Given the description of an element on the screen output the (x, y) to click on. 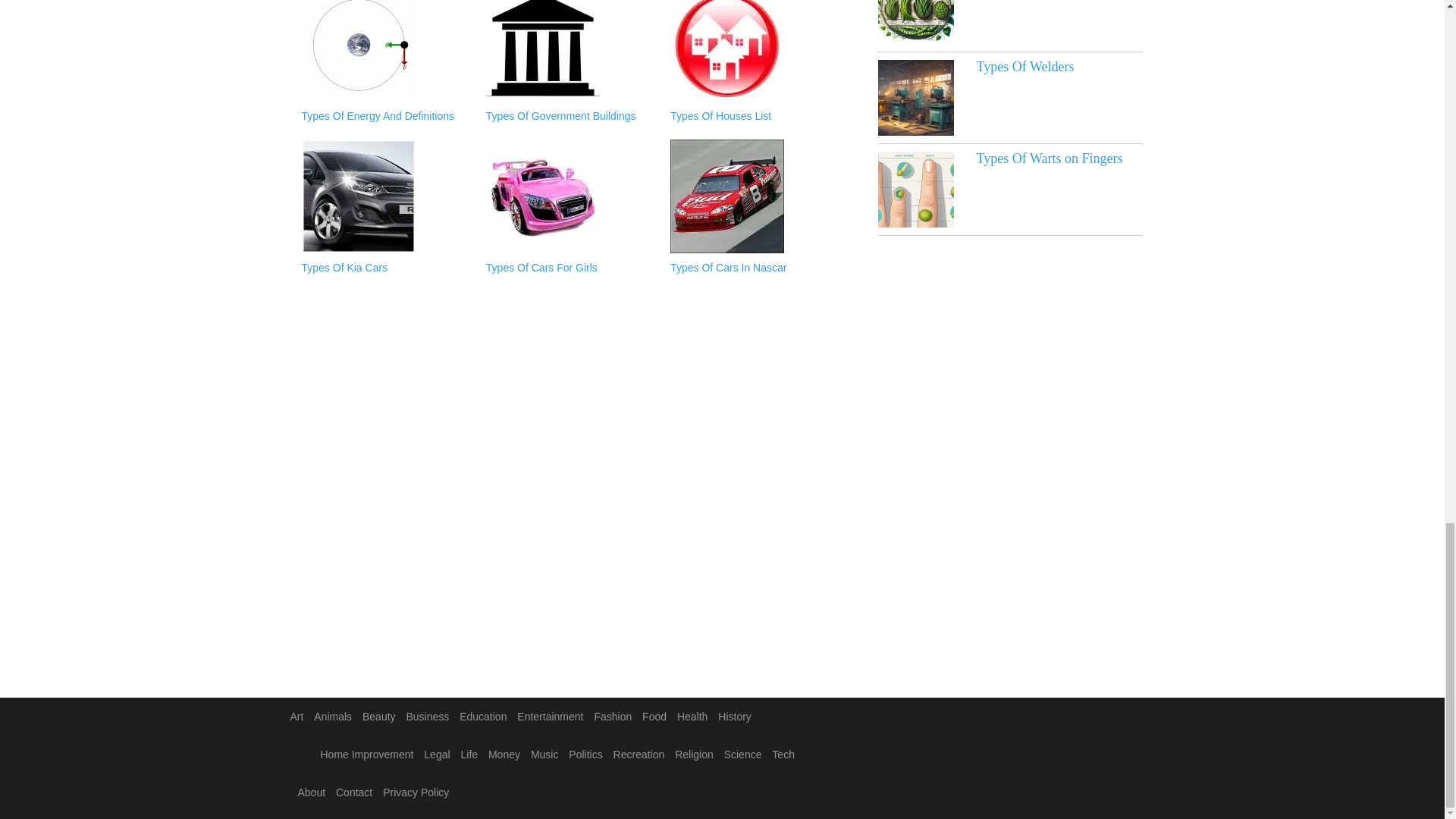
Types Of Cars In Nascar (754, 268)
Types Of Kia Cars (385, 268)
Types Of Government Buildings (570, 116)
Types Of Energy And Definitions (385, 116)
Types Of Houses List (754, 116)
Types Of Cars For Girls (570, 268)
Types Of Green Beans (915, 22)
